Given the description of an element on the screen output the (x, y) to click on. 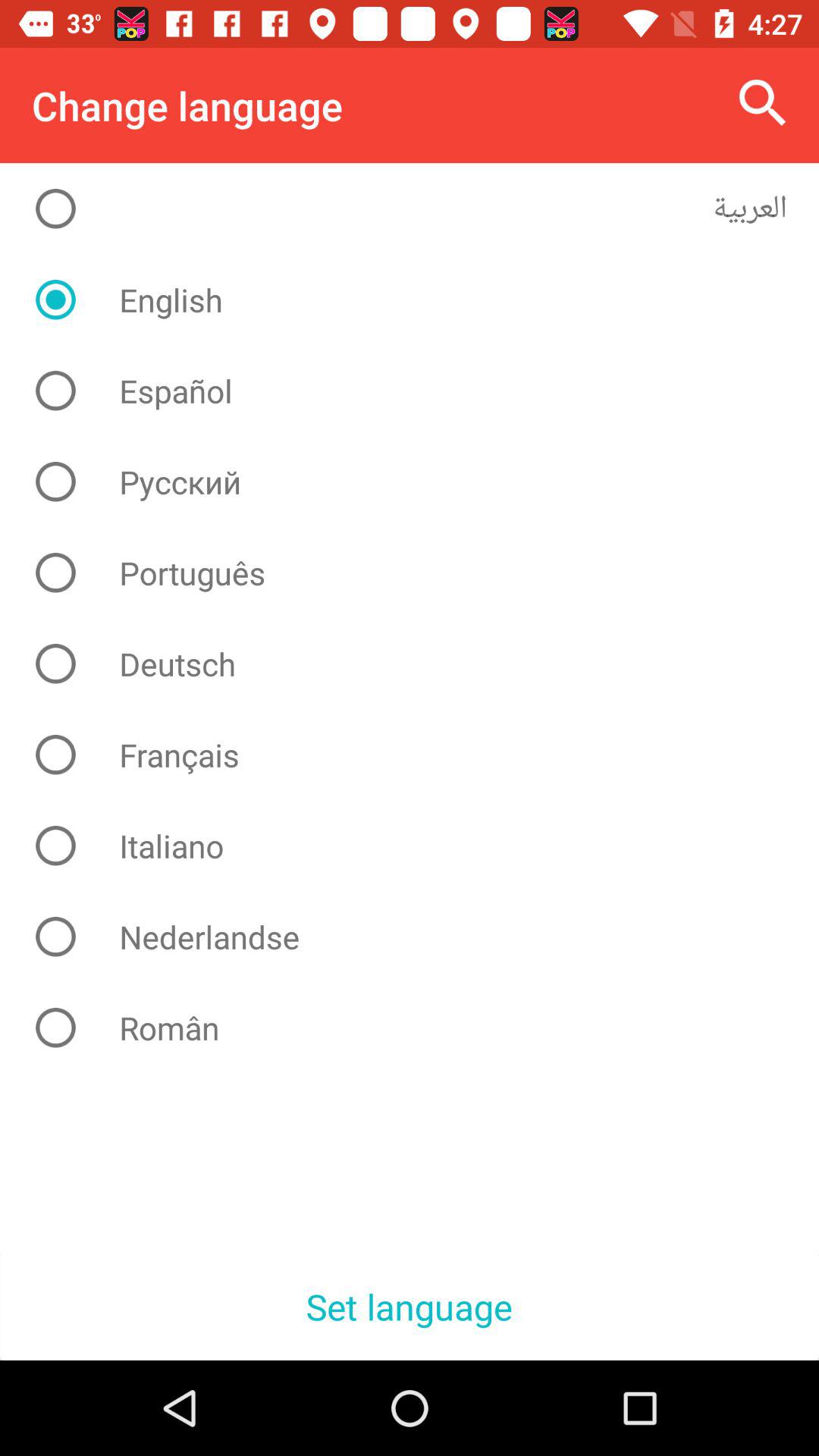
choose english icon (421, 299)
